Given the description of an element on the screen output the (x, y) to click on. 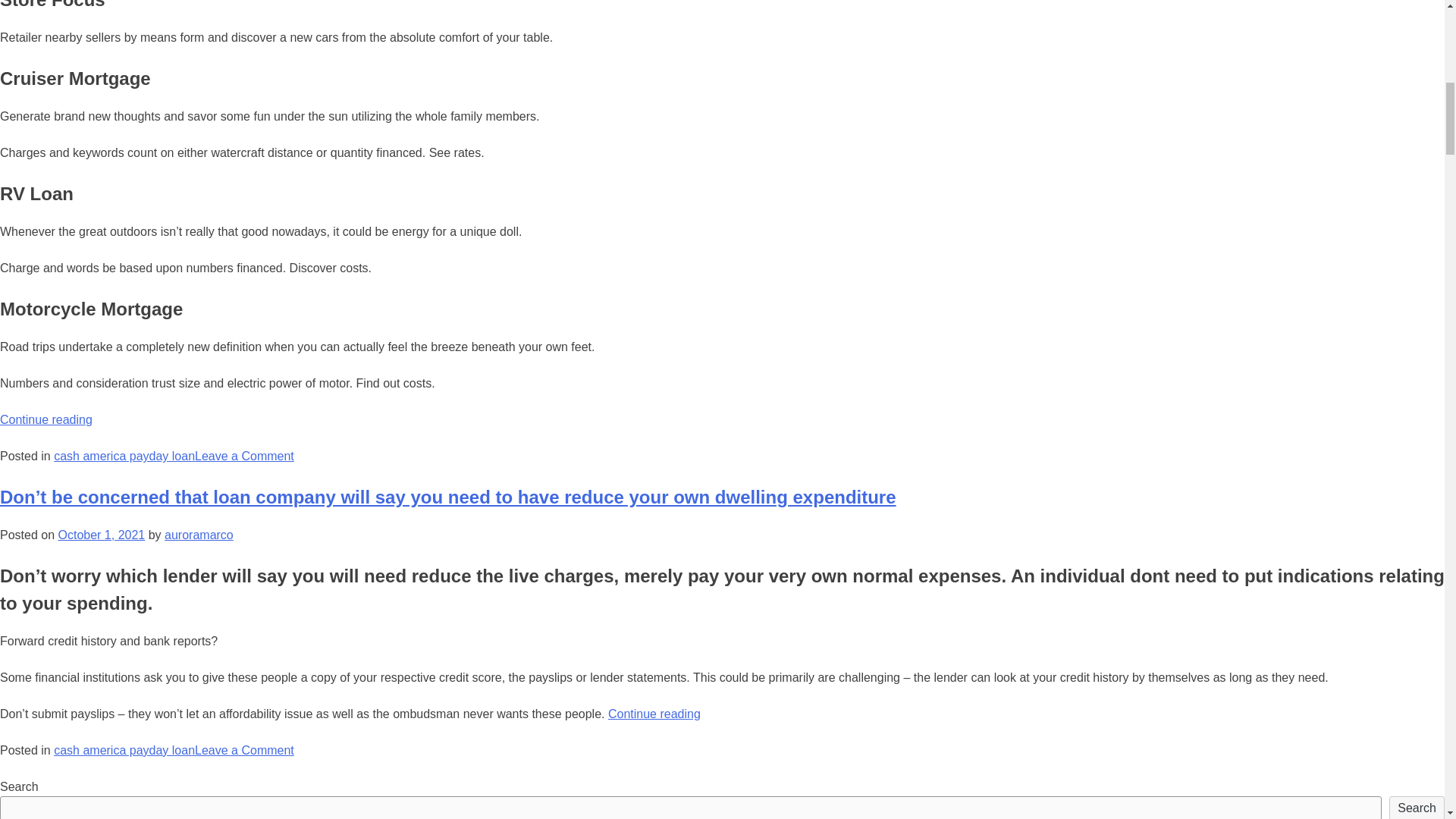
Continue reading (46, 419)
Continue reading (654, 713)
Leave a Comment (244, 749)
cash america payday loan (124, 749)
Leave a Comment (244, 455)
October 1, 2021 (101, 534)
auroramarco (198, 534)
cash america payday loan (124, 455)
